Given the description of an element on the screen output the (x, y) to click on. 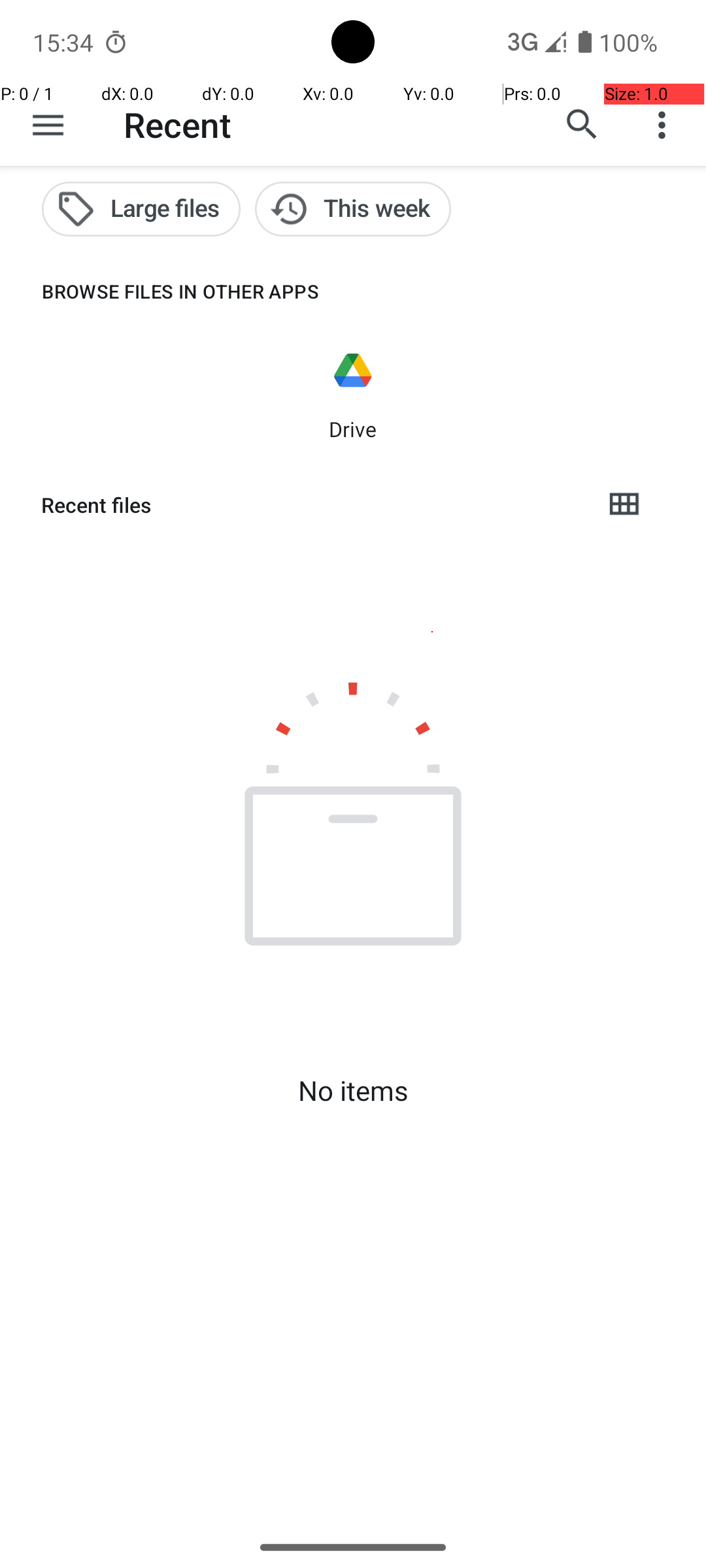
BROWSE FILES IN OTHER APPS Element type: android.widget.TextView (159, 291)
Recent files Element type: android.widget.TextView (311, 504)
Drive Element type: android.widget.TextView (352, 428)
